Given the description of an element on the screen output the (x, y) to click on. 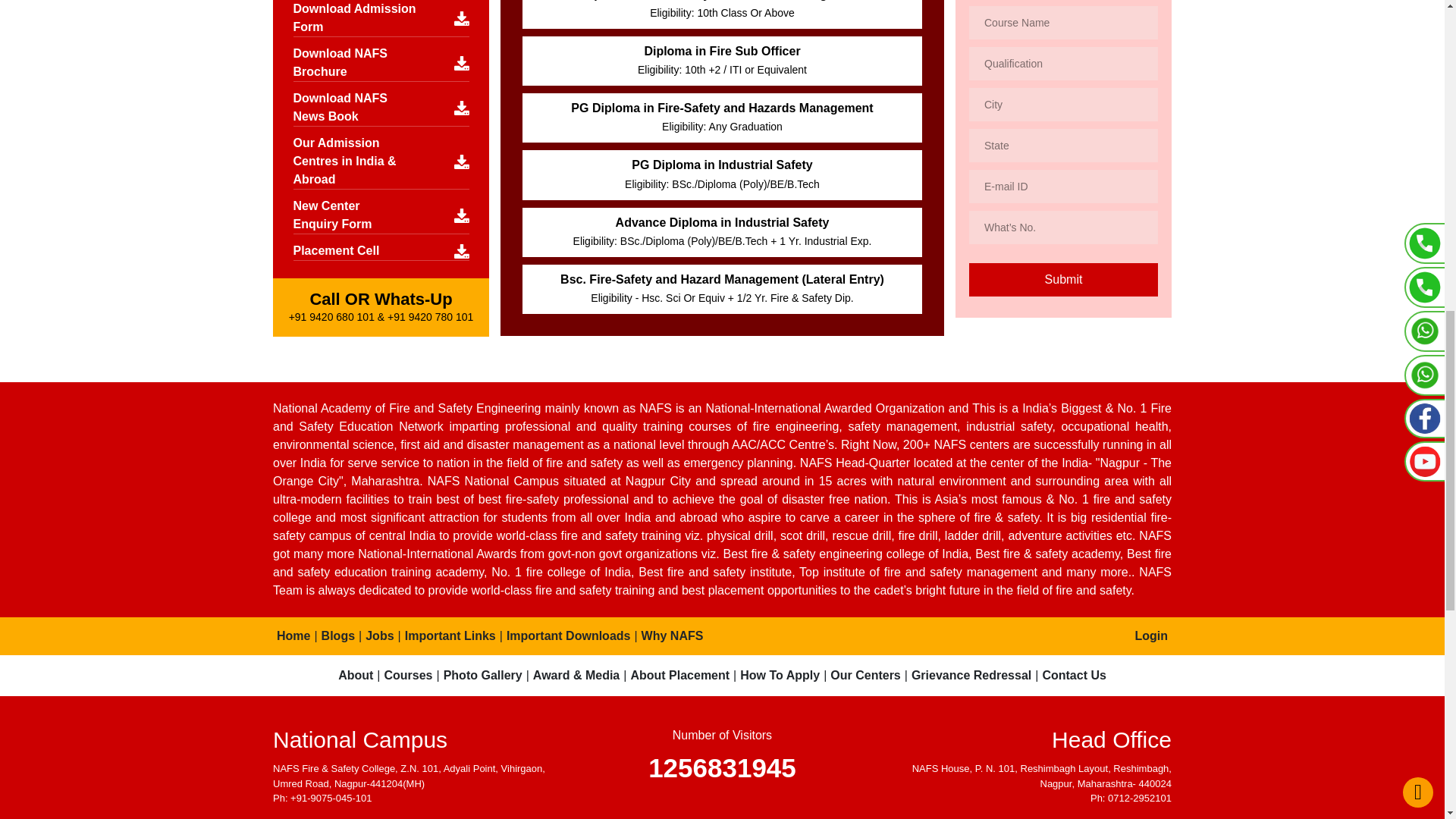
Submit (1063, 279)
